Given the description of an element on the screen output the (x, y) to click on. 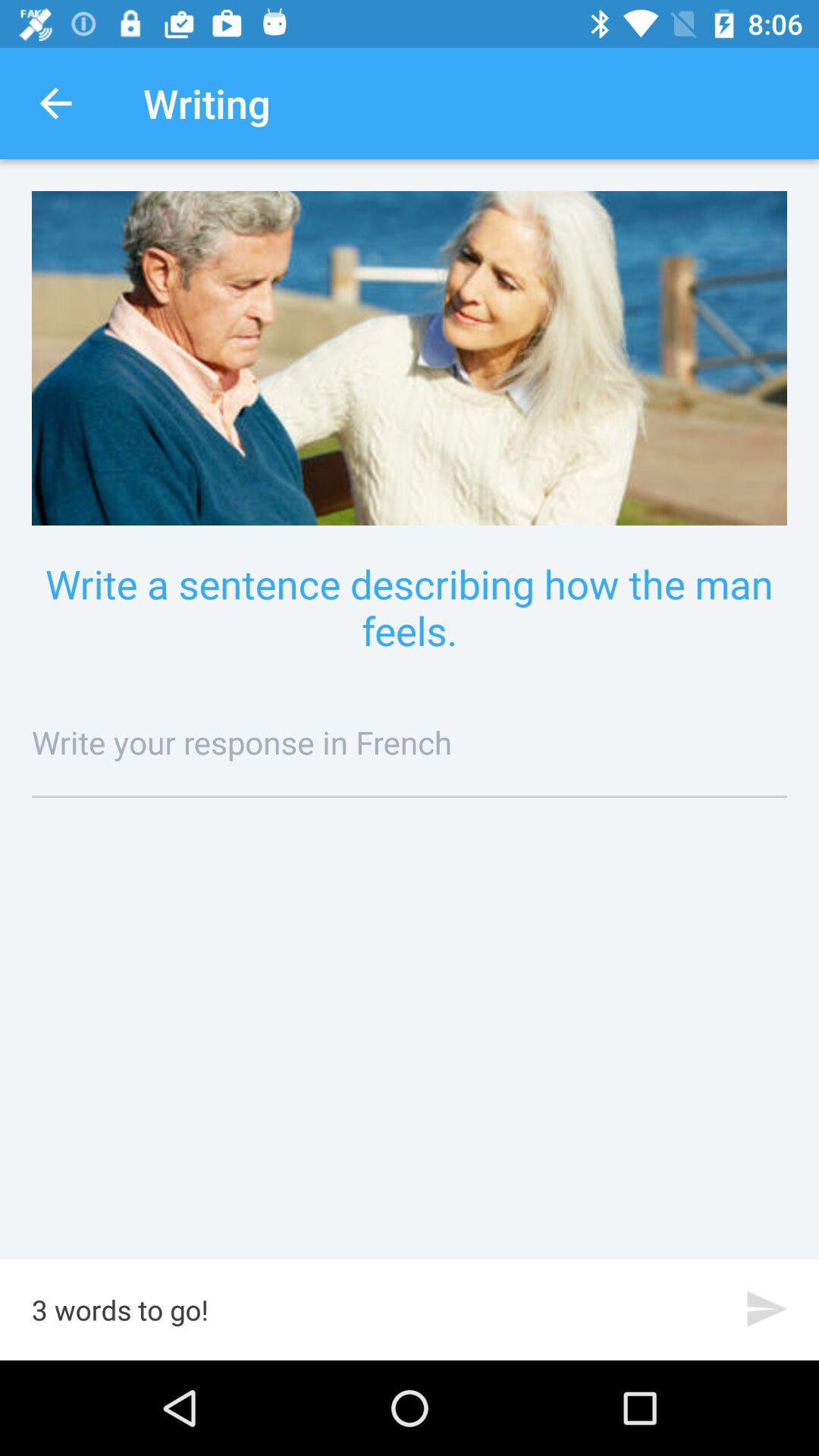
turn on icon next to writing item (55, 103)
